Given the description of an element on the screen output the (x, y) to click on. 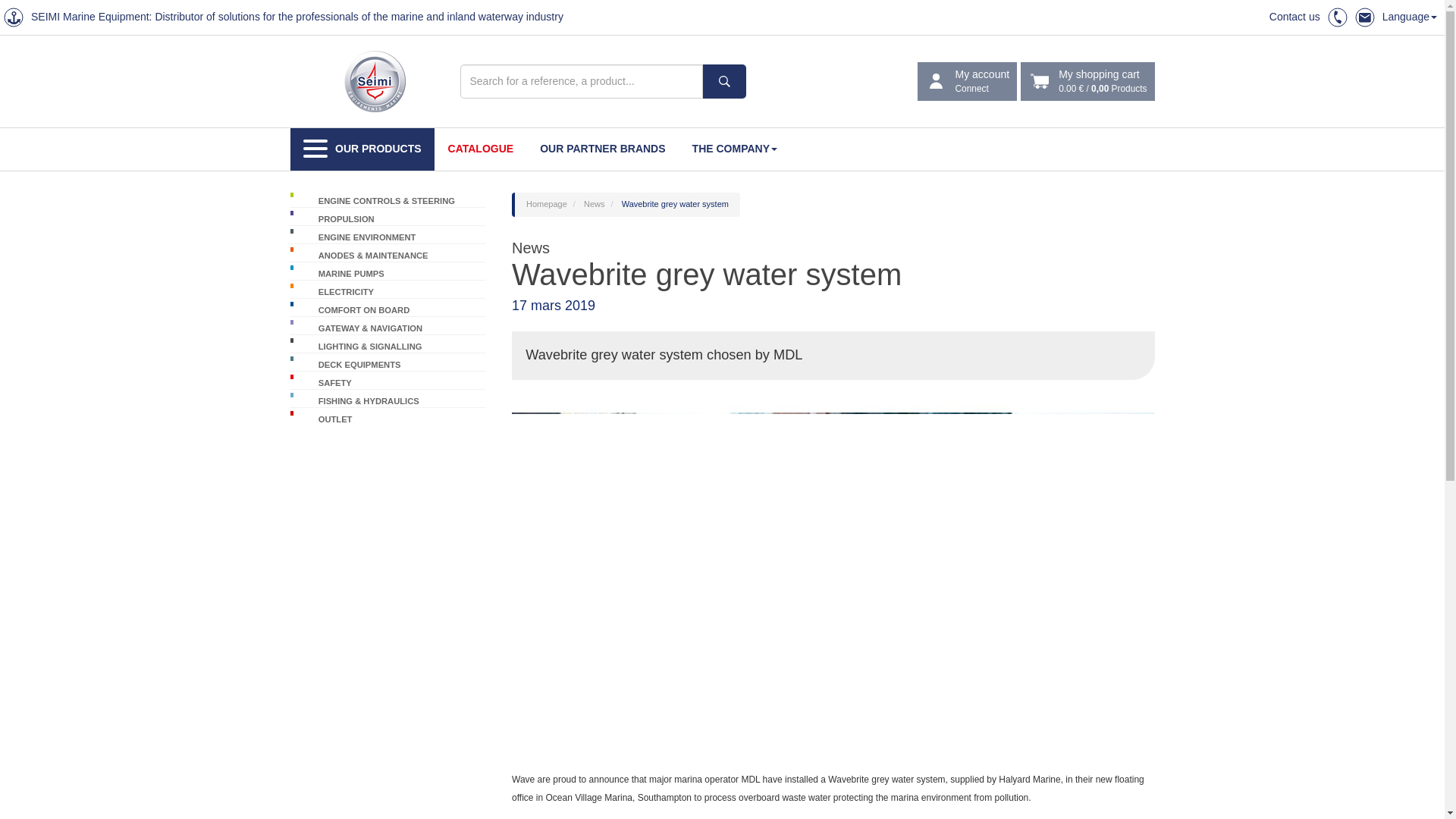
THE COMPANY (734, 148)
OUR PRODUCTS (361, 148)
Language (1409, 16)
OUR PARTNER BRANDS (602, 148)
Contact us (1294, 16)
CATALOGUE (967, 81)
